Given the description of an element on the screen output the (x, y) to click on. 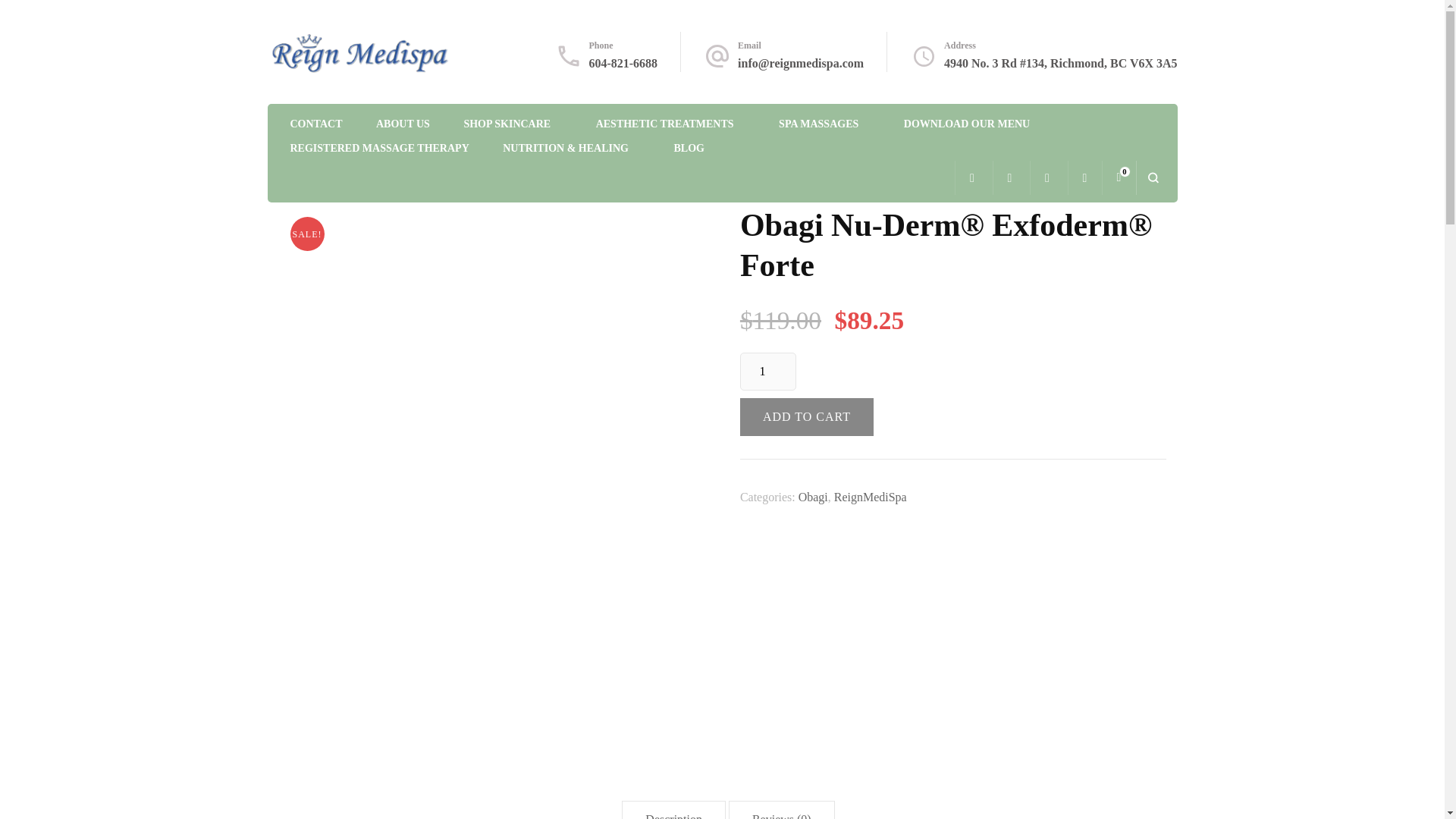
Menu (966, 124)
604-821-6688 (623, 62)
View your shopping cart (1117, 177)
1 (767, 371)
